Given the description of an element on the screen output the (x, y) to click on. 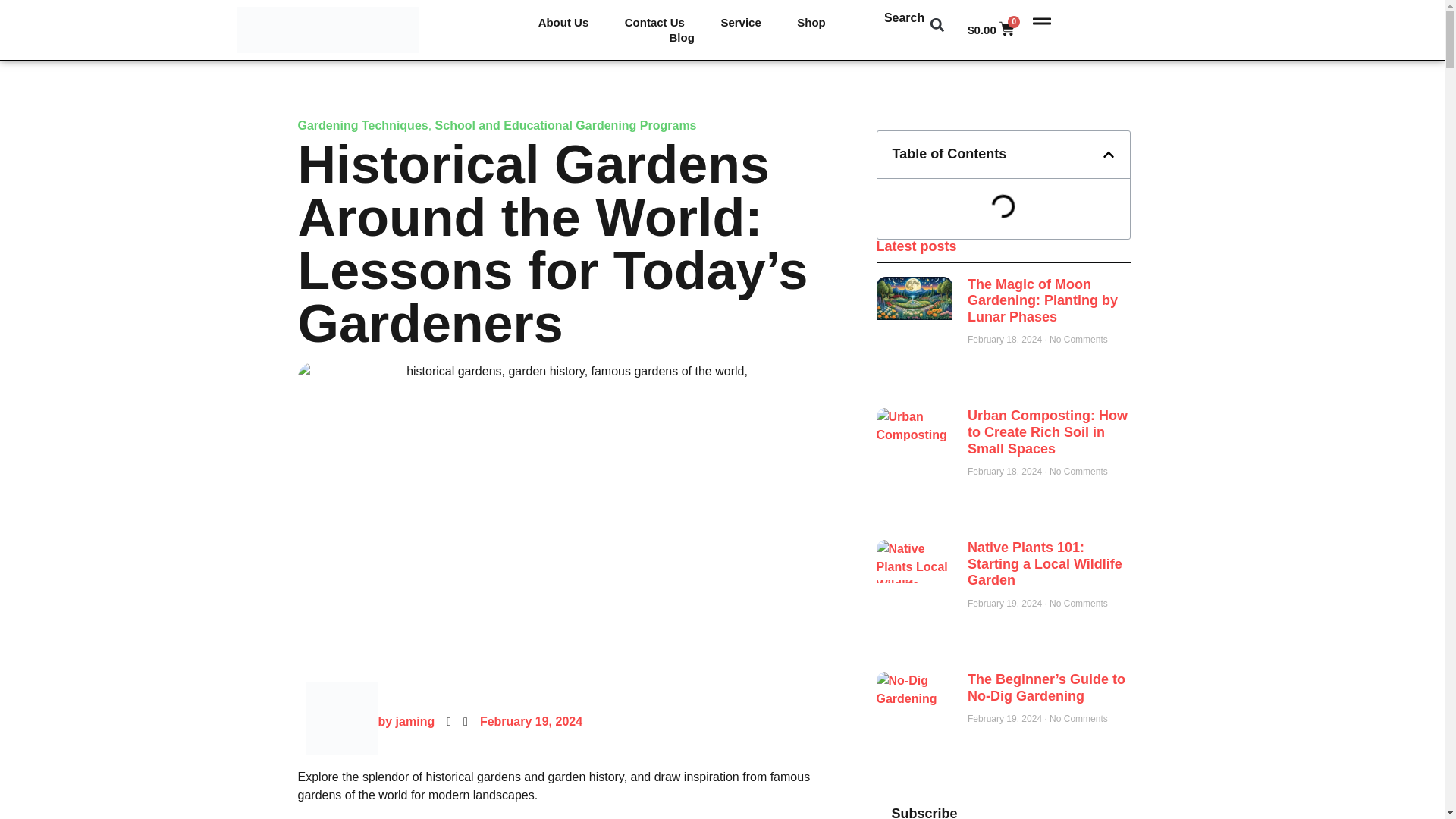
Gardening Techniques (362, 124)
Service (740, 22)
School and Educational Gardening Programs (566, 124)
About Us (563, 22)
by jaming (368, 721)
Shop (811, 22)
Blog (681, 37)
February 19, 2024 (531, 721)
Contact Us (655, 22)
